Given the description of an element on the screen output the (x, y) to click on. 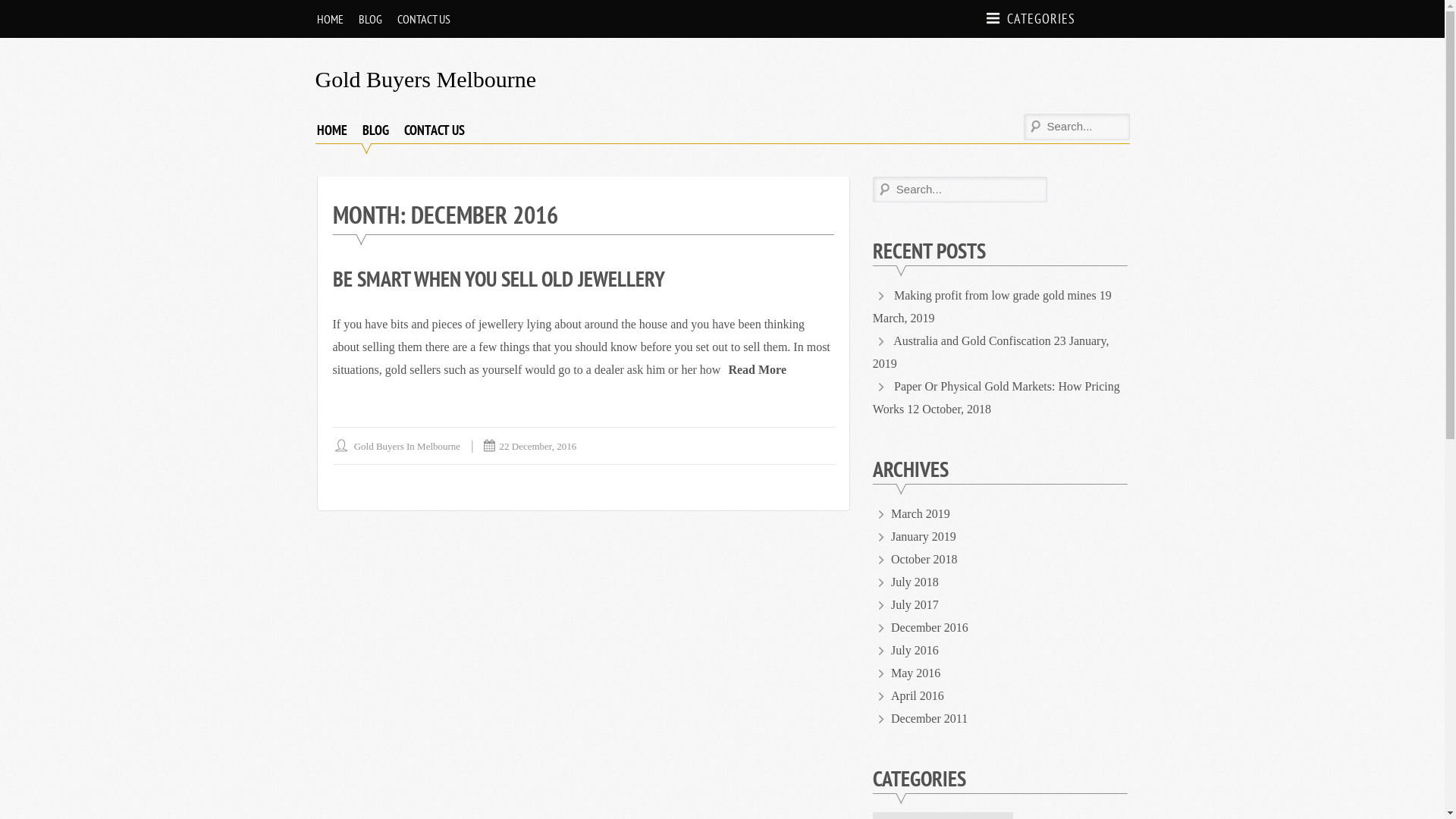
BLOG Element type: text (369, 18)
Skip to content Element type: text (0, 0)
Australia and Gold Confiscation Element type: text (972, 340)
Search Element type: text (23, 12)
May 2016 Element type: text (915, 672)
December 2011 Element type: text (929, 718)
HOME Element type: text (331, 129)
HOME Element type: text (330, 18)
December 2016 Element type: text (929, 627)
Read More Element type: text (757, 369)
April 2016 Element type: text (917, 695)
January 2019 Element type: text (923, 536)
Paper Or Physical Gold Markets: How Pricing Works Element type: text (996, 397)
July 2018 Element type: text (914, 581)
October 2018 Element type: text (924, 558)
Gold Buyers In Melbourne Element type: text (407, 446)
March 2019 Element type: text (920, 513)
BLOG Element type: text (375, 129)
Gold Buyers Melbourne Element type: text (425, 78)
CONTACT US Element type: text (433, 129)
CONTACT US Element type: text (423, 18)
July 2017 Element type: text (914, 604)
BE SMART WHEN YOU SELL OLD JEWELLERY Element type: text (498, 278)
July 2016 Element type: text (914, 649)
22 December, 2016 Element type: text (538, 446)
Making profit from low grade gold mines Element type: text (995, 294)
